Given the description of an element on the screen output the (x, y) to click on. 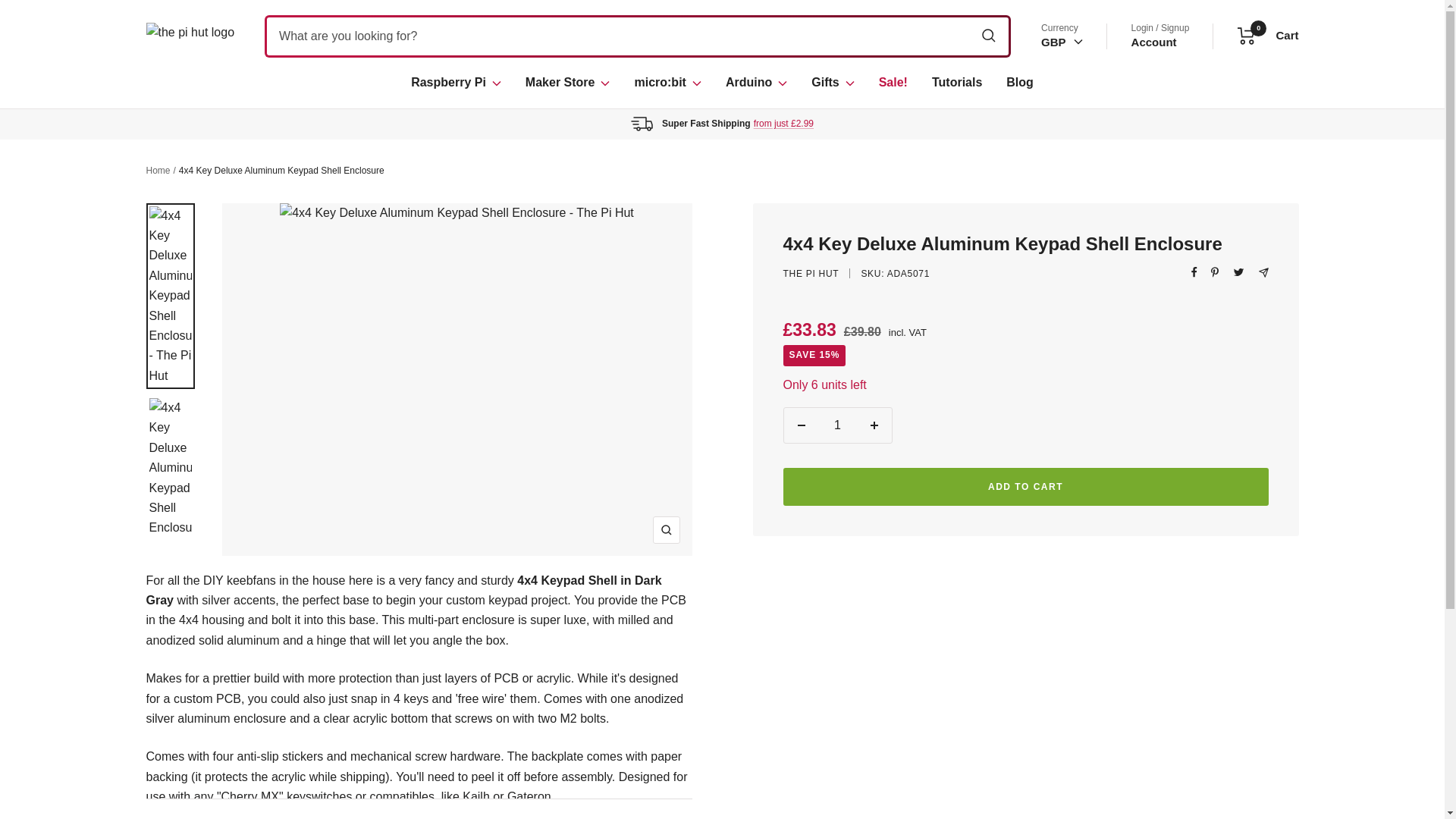
Gifts (831, 82)
Sale! (893, 82)
USD (1058, 116)
GBP (1062, 42)
EUR (1058, 161)
Blog (1267, 35)
Delivery (1019, 82)
1 (783, 122)
Raspberry Pi (837, 425)
Maker Store (455, 82)
CAD (567, 82)
Account (1058, 139)
The Pi Hut (1153, 42)
micro:bit (189, 36)
